Given the description of an element on the screen output the (x, y) to click on. 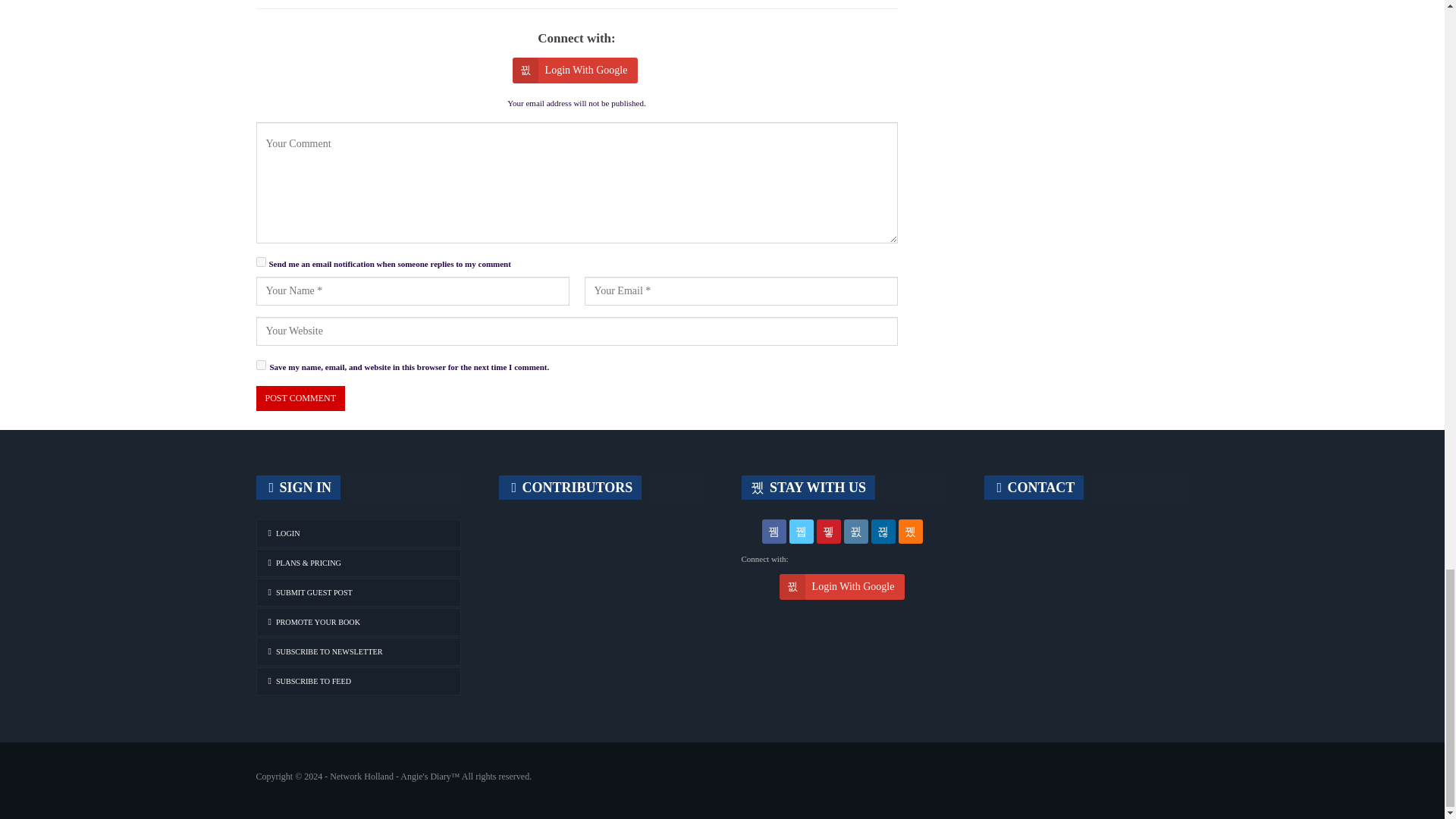
yes (261, 365)
1 (261, 261)
Post Comment (300, 398)
